Given the description of an element on the screen output the (x, y) to click on. 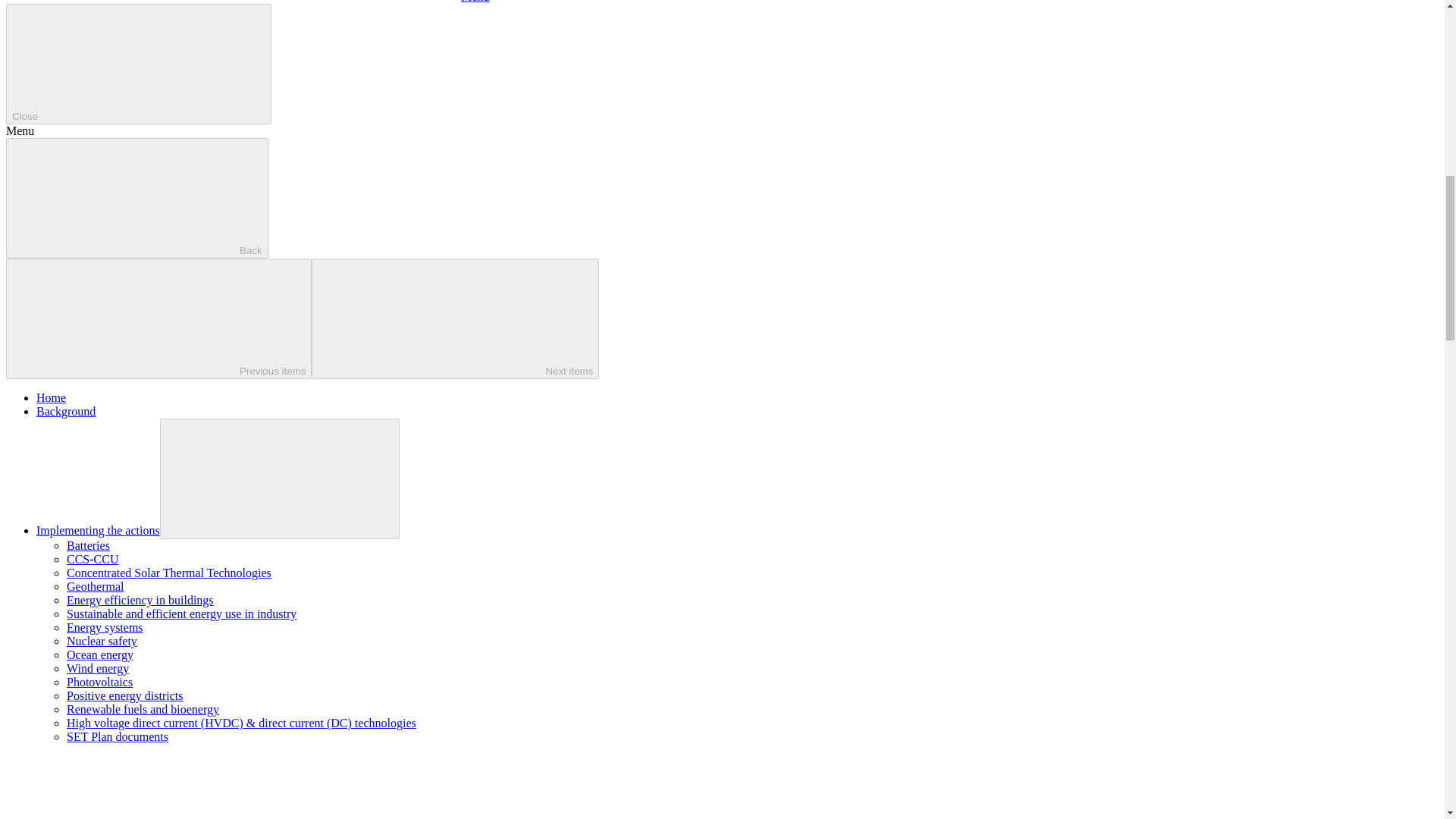
Energy systems (104, 626)
Close (137, 64)
Sustainable and efficient energy use in industry (181, 613)
Background (66, 410)
Implementing the actions (98, 530)
Batteries (88, 545)
Nuclear safety (101, 640)
Geothermal (94, 585)
Wind energy (97, 667)
Ocean energy (99, 654)
Previous items (158, 318)
Home (50, 397)
Concentrated Solar Thermal Technologies (168, 572)
Next items (454, 318)
Positive energy districts (124, 695)
